Given the description of an element on the screen output the (x, y) to click on. 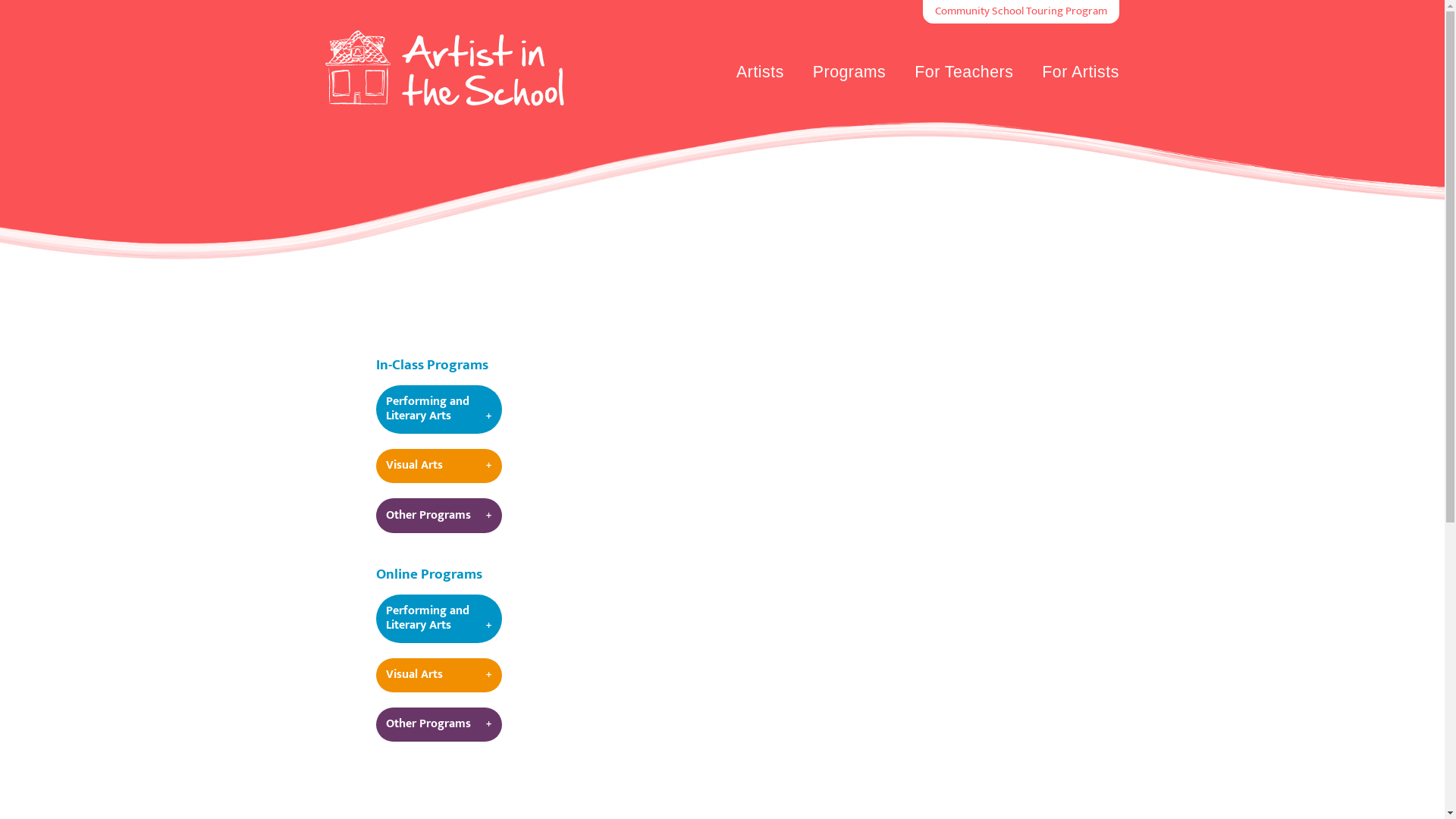
Visual Arts Element type: text (439, 465)
Other Programs Element type: text (439, 515)
Programs Element type: text (848, 73)
For Teachers Element type: text (963, 73)
Performing and Literary Arts Element type: text (439, 409)
Artists Element type: text (760, 73)
Other Programs Element type: text (439, 724)
Performing and Literary Arts Element type: text (439, 618)
For Artists Element type: text (1080, 73)
Visual Arts Element type: text (439, 675)
